Given the description of an element on the screen output the (x, y) to click on. 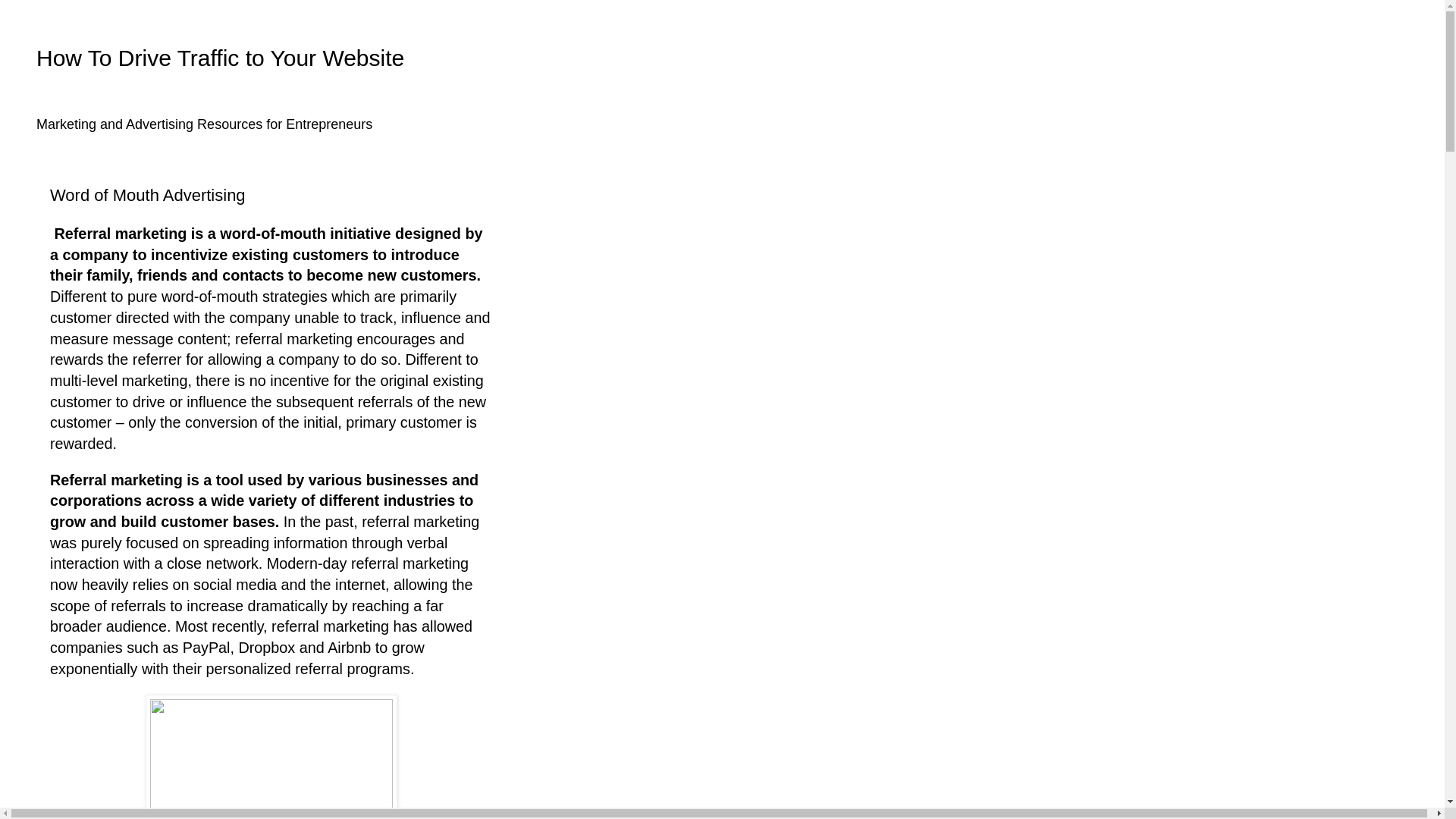
How To Drive Traffic to Your Website (220, 57)
